Given the description of an element on the screen output the (x, y) to click on. 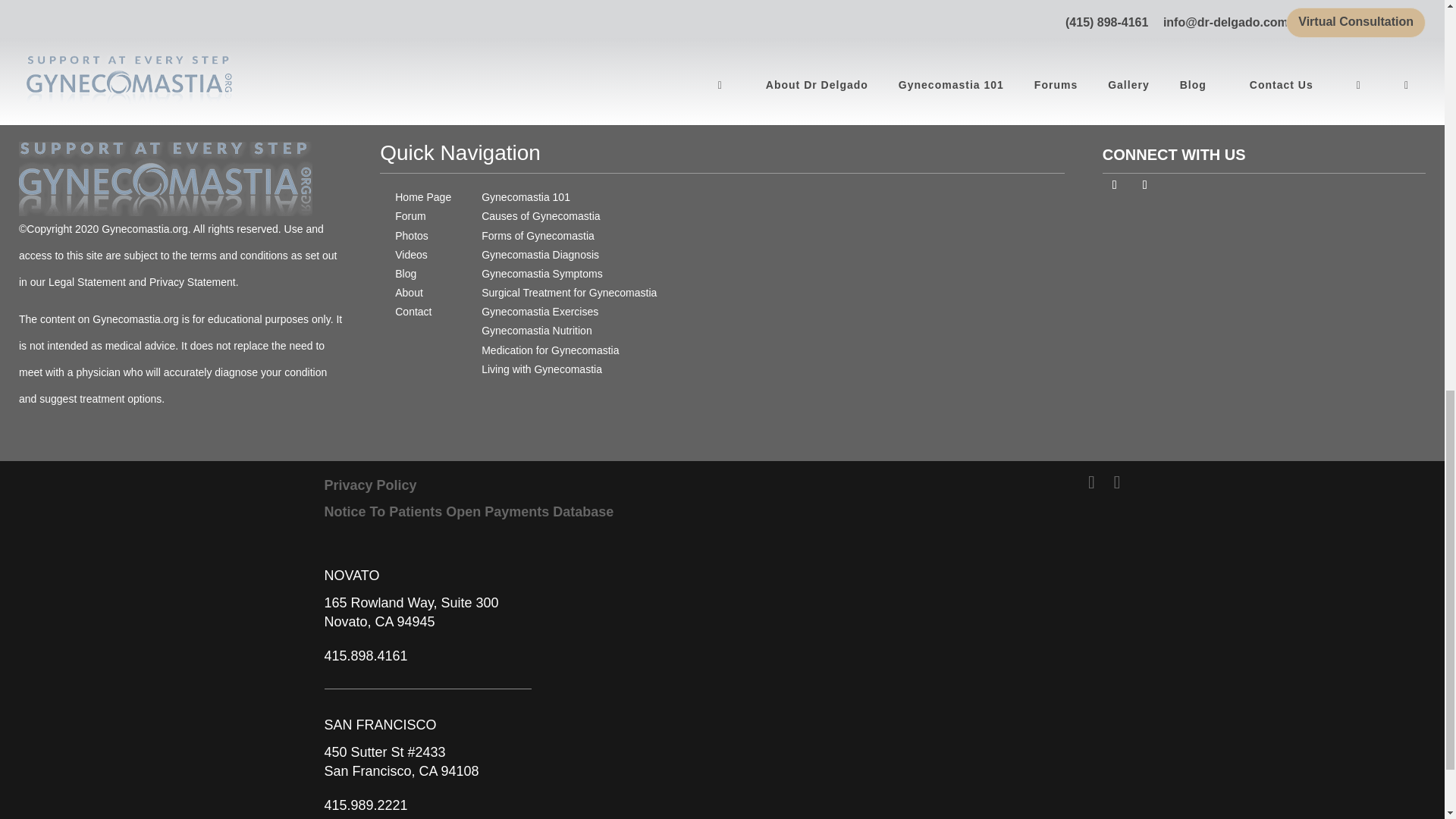
Follow on Instagram (1144, 184)
Follow on Facebook (1114, 184)
